Given the description of an element on the screen output the (x, y) to click on. 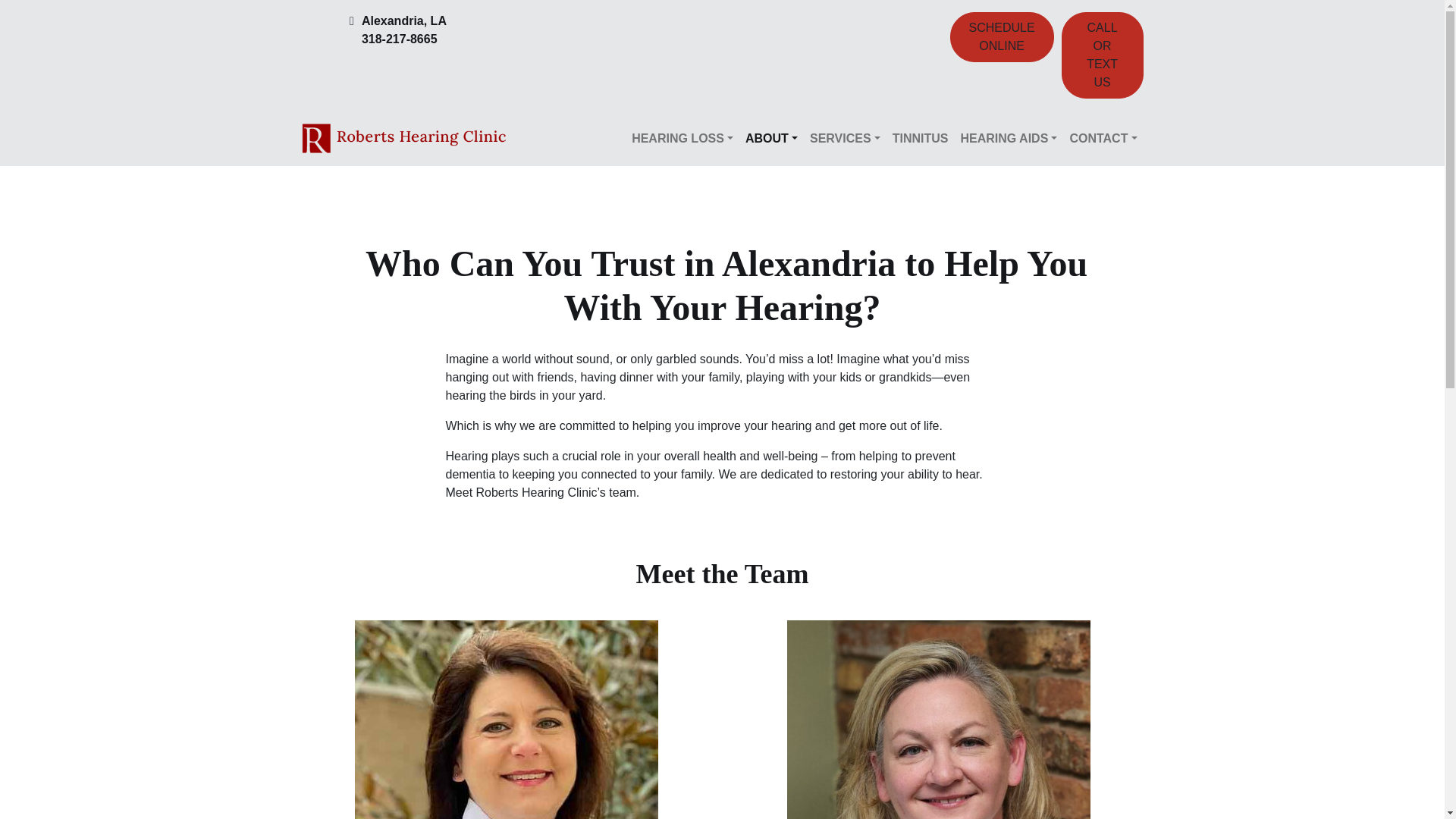
318-217-8665 (403, 39)
SCHEDULE ONLINE (1000, 37)
SERVICES (844, 138)
HEARING AIDS (1007, 138)
TINNITUS (920, 138)
CALL OR TEXT US (1101, 55)
HEARING LOSS (682, 138)
CONTACT (1102, 138)
Alexandria, LA (403, 21)
ABOUT (771, 138)
